Given the description of an element on the screen output the (x, y) to click on. 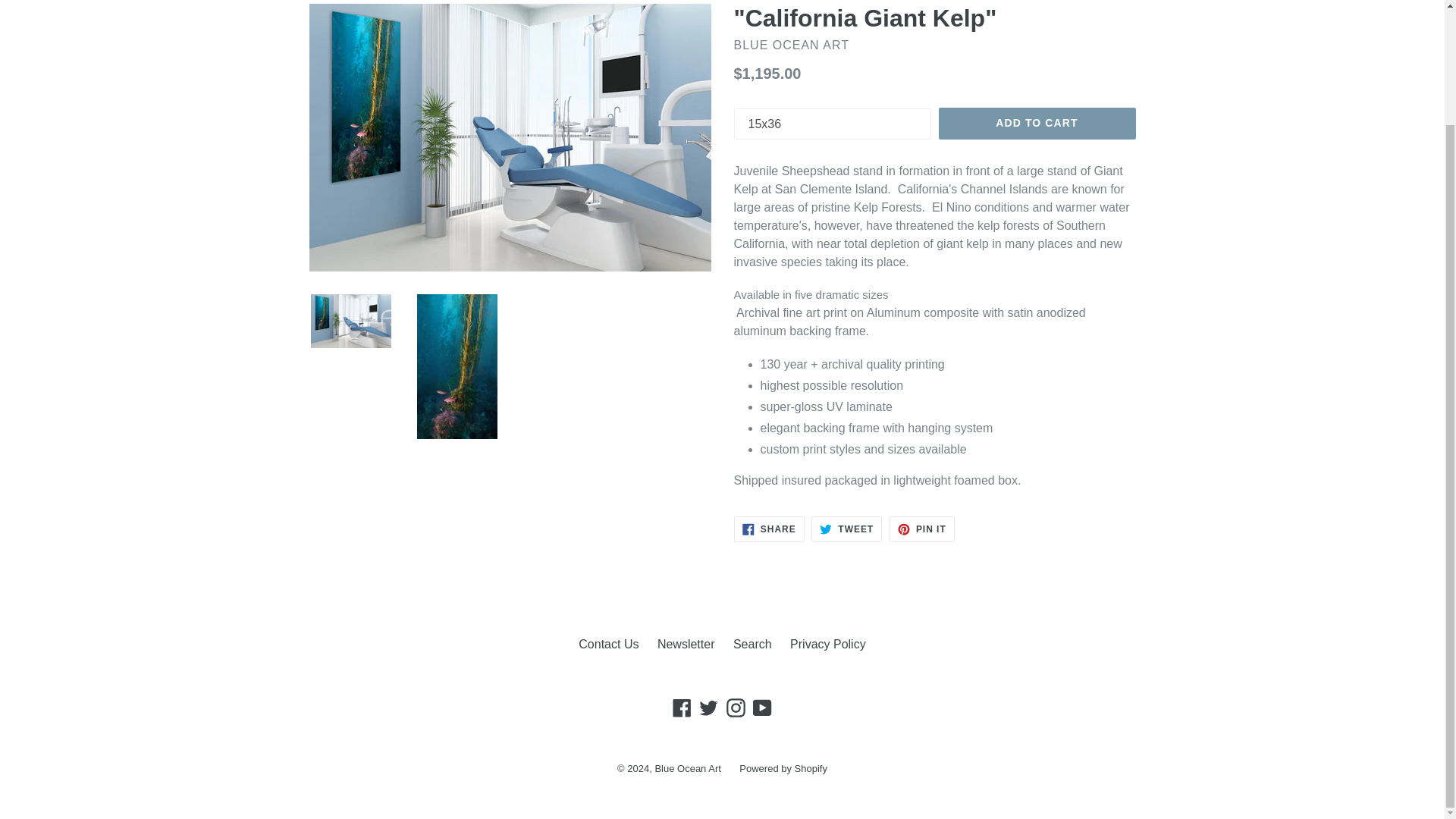
ADD TO CART (1037, 123)
Tweet on Twitter (846, 529)
Facebook (846, 529)
Instagram (681, 706)
Privacy Policy (735, 706)
Blue Ocean Art on Facebook (828, 644)
Blue Ocean Art on YouTube (681, 706)
Twitter (762, 706)
